Given the description of an element on the screen output the (x, y) to click on. 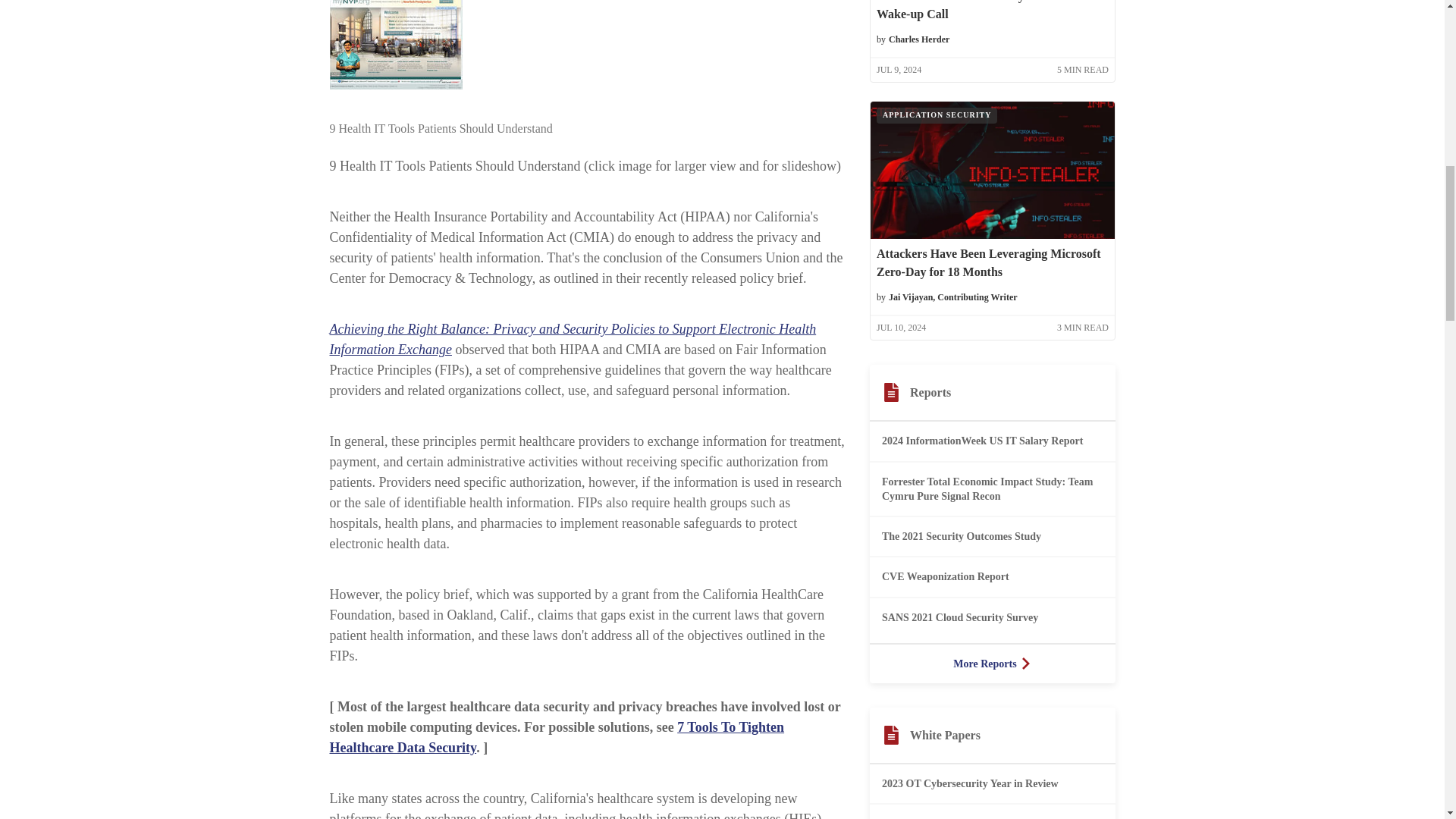
9 Health IT Tools Patients Should Understand (395, 44)
